Given the description of an element on the screen output the (x, y) to click on. 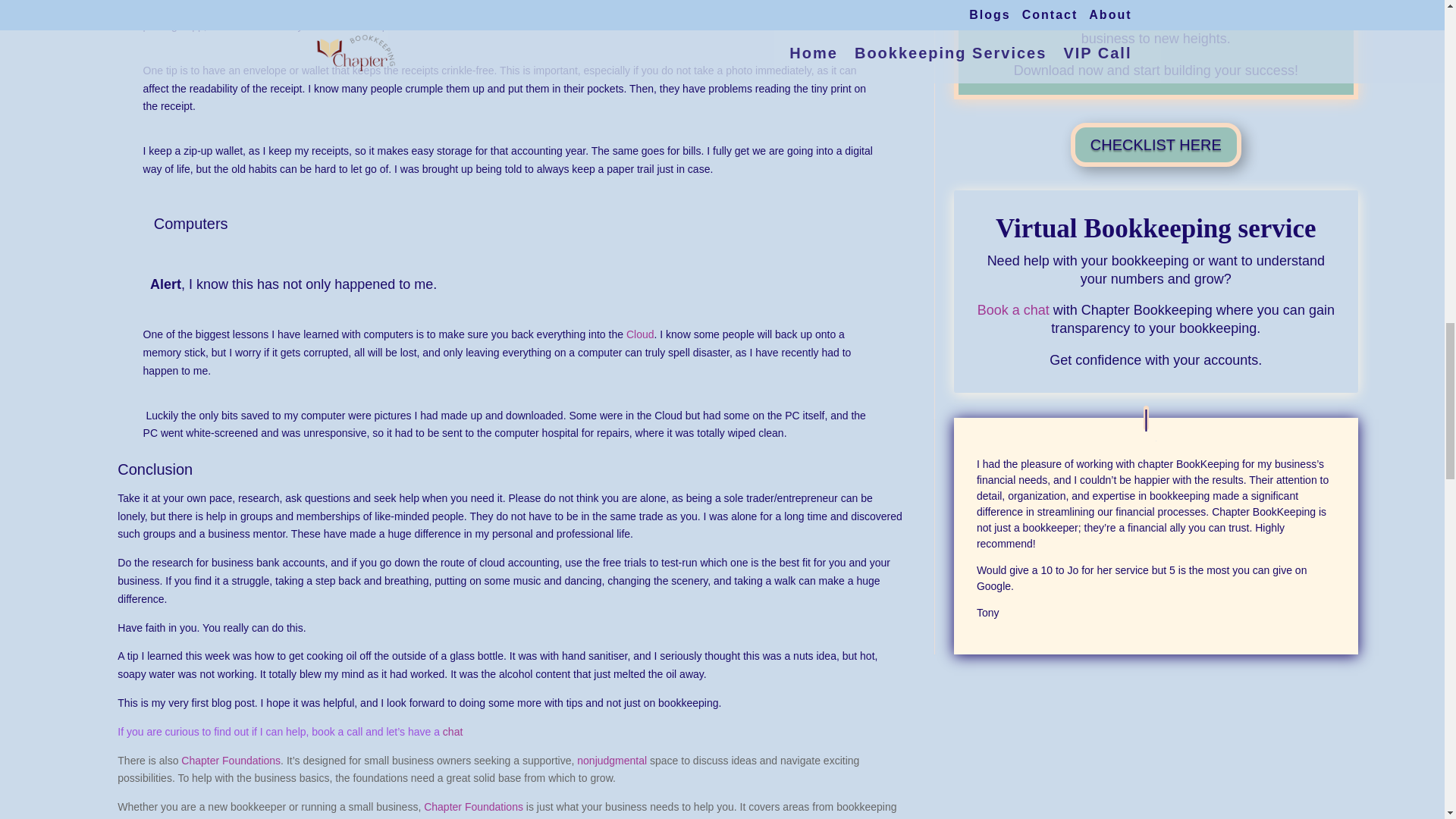
chat (452, 731)
Chapter Foundations (472, 806)
CHECKLIST HERE (1155, 144)
Chapter Foundations (230, 760)
Book a chat (1012, 309)
nonjudgmental (611, 760)
Cloud (639, 334)
